Given the description of an element on the screen output the (x, y) to click on. 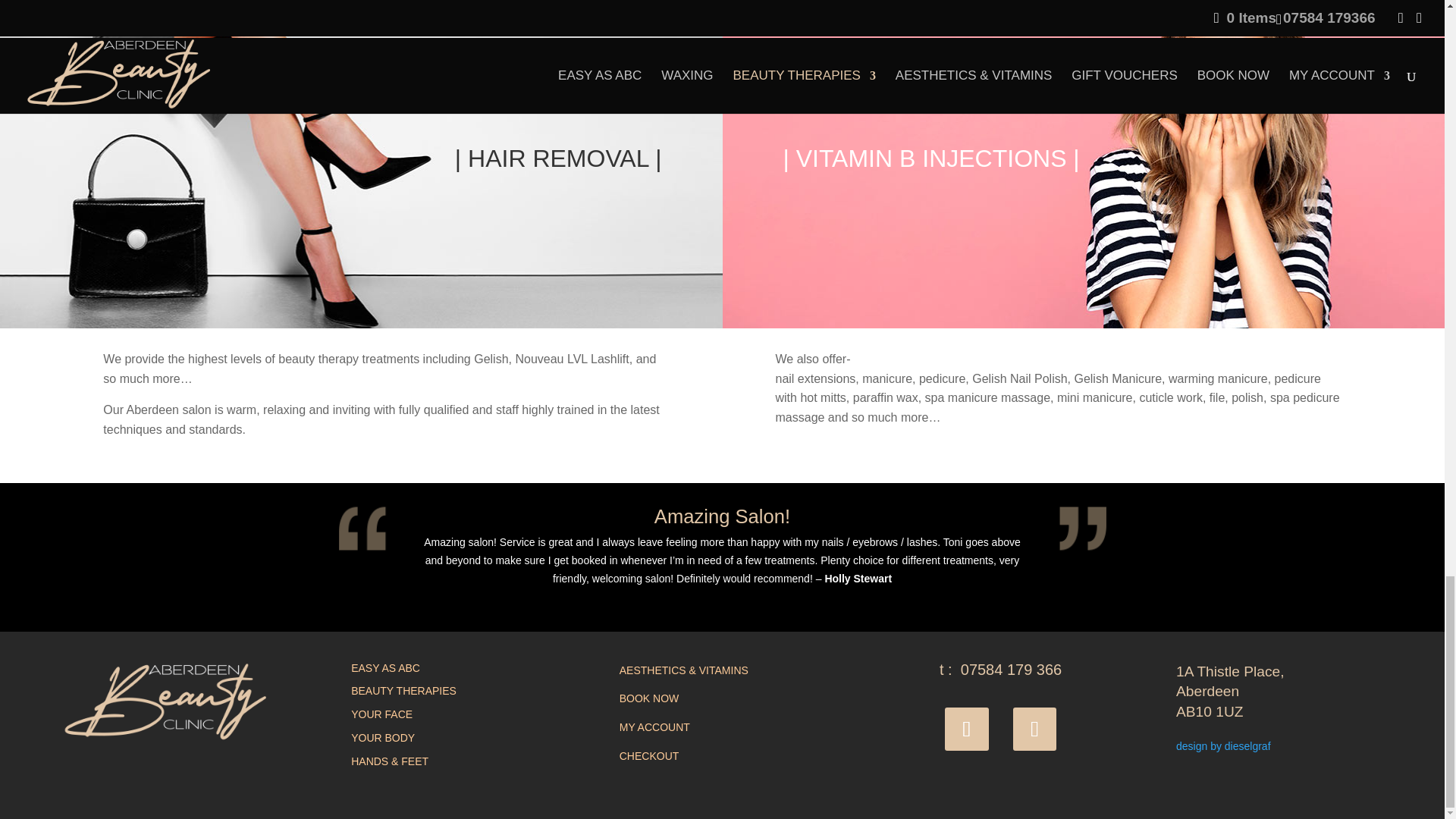
aberdeen-beuaty-clinic-logo-sand (164, 703)
BEAUTY THERAPIES (403, 690)
YOUR FACE (381, 714)
Follow on Facebook (966, 729)
EASY AS ABC (385, 667)
Follow on Instagram (1035, 729)
